Given the description of an element on the screen output the (x, y) to click on. 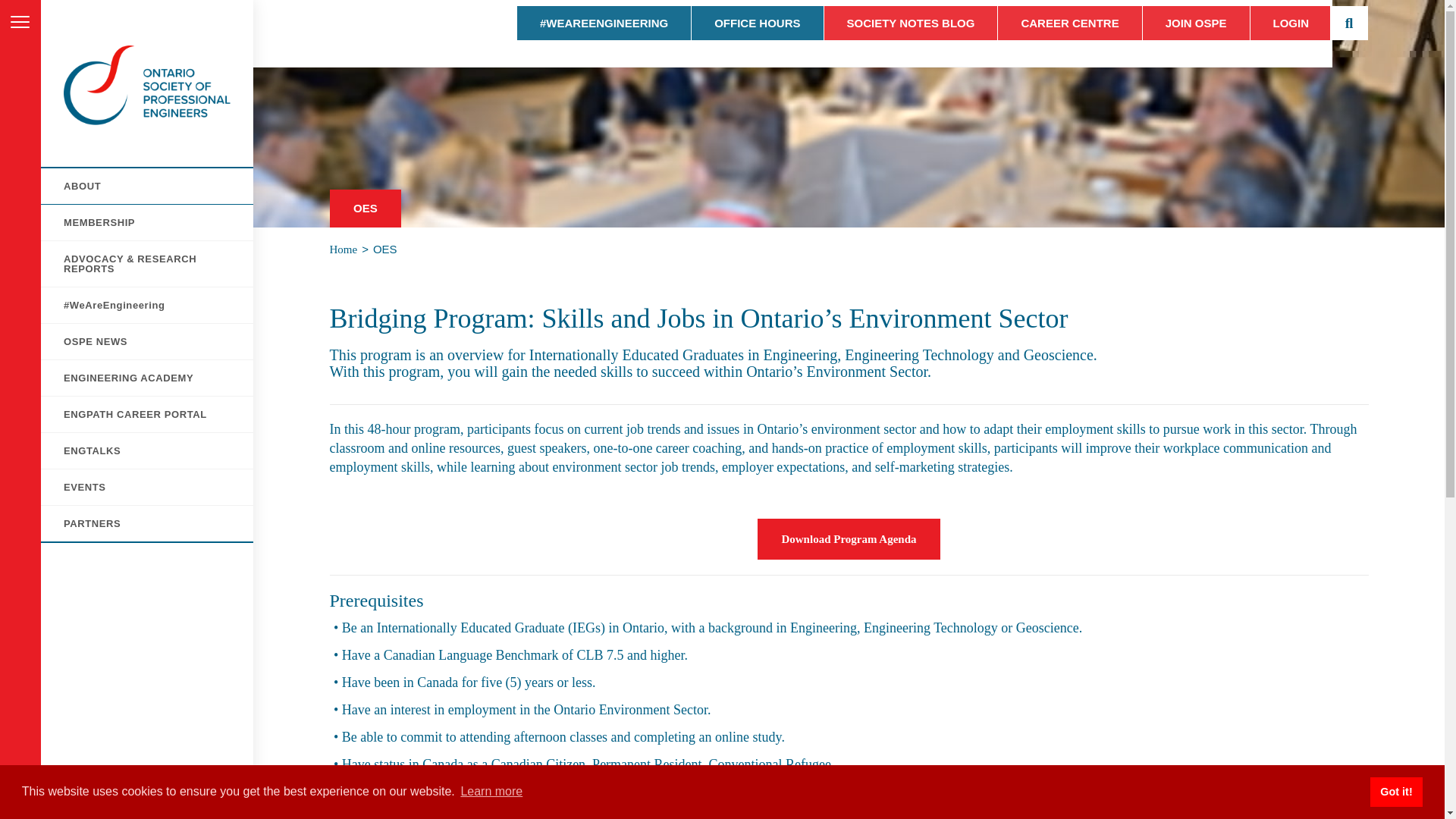
LOGIN (1290, 22)
MEMBERSHIP (146, 222)
Got it! (1396, 791)
OFFICE HOURS (756, 22)
ABOUT (146, 185)
Learn more (491, 791)
SOCIETY NOTES BLOG (910, 22)
CAREER CENTRE (1069, 22)
JOIN OSPE (1195, 22)
